Given the description of an element on the screen output the (x, y) to click on. 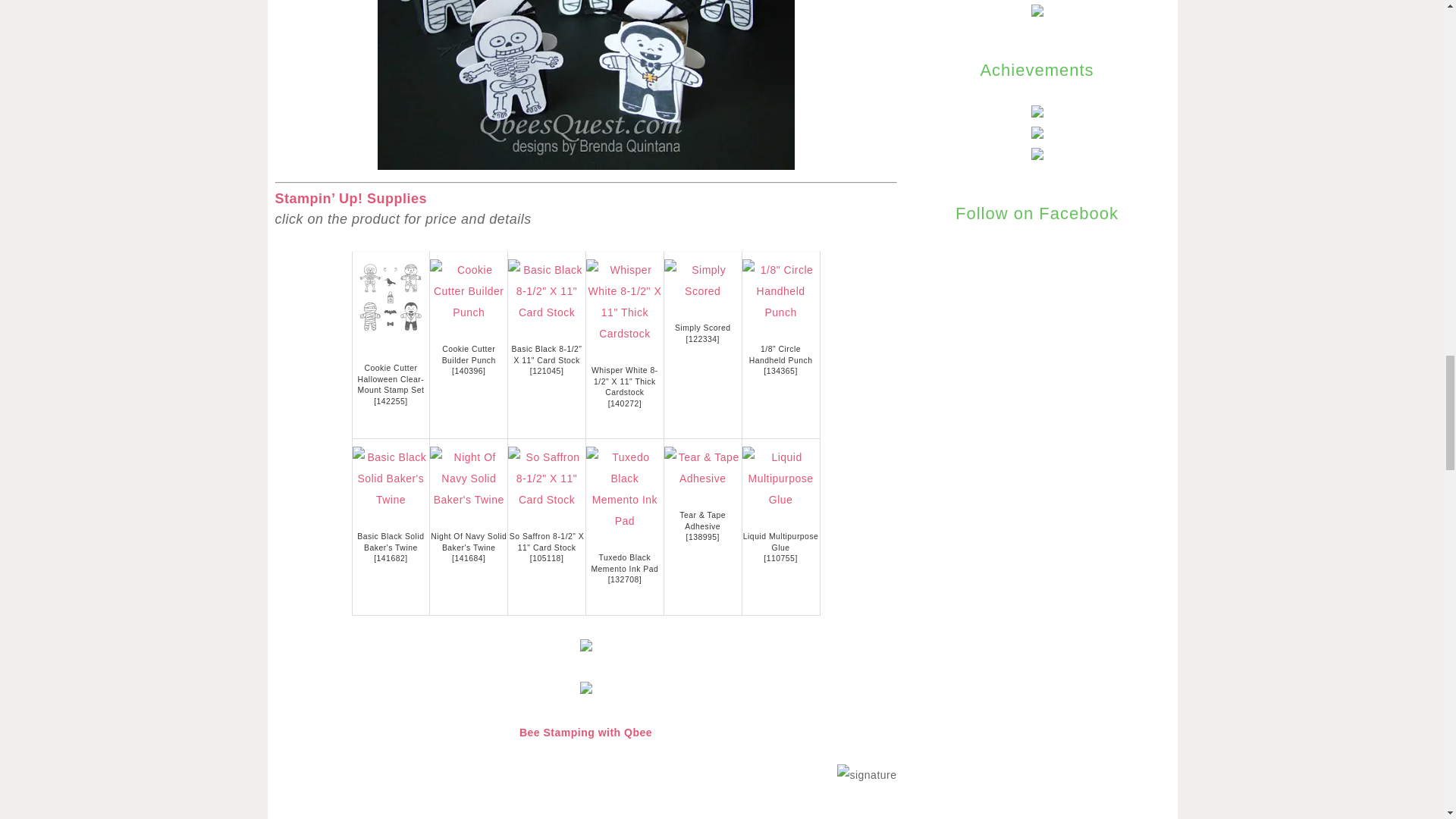
Cookie Cutter Halloween Clear-Mount Stamp Set (391, 378)
Cookie Cutter Builder Punch (468, 370)
Cookie Cutter Builder Punch (467, 312)
Cookie Cutter Halloween Clear-Mount Stamp Set (390, 296)
Cookie Cutter Halloween Clear-Mount Stamp Set (391, 378)
142255 (391, 401)
Cookie Cutter Builder Punch (469, 354)
Cookie Cutter Builder Punch (469, 354)
140396 (468, 370)
121045 (546, 370)
